Given the description of an element on the screen output the (x, y) to click on. 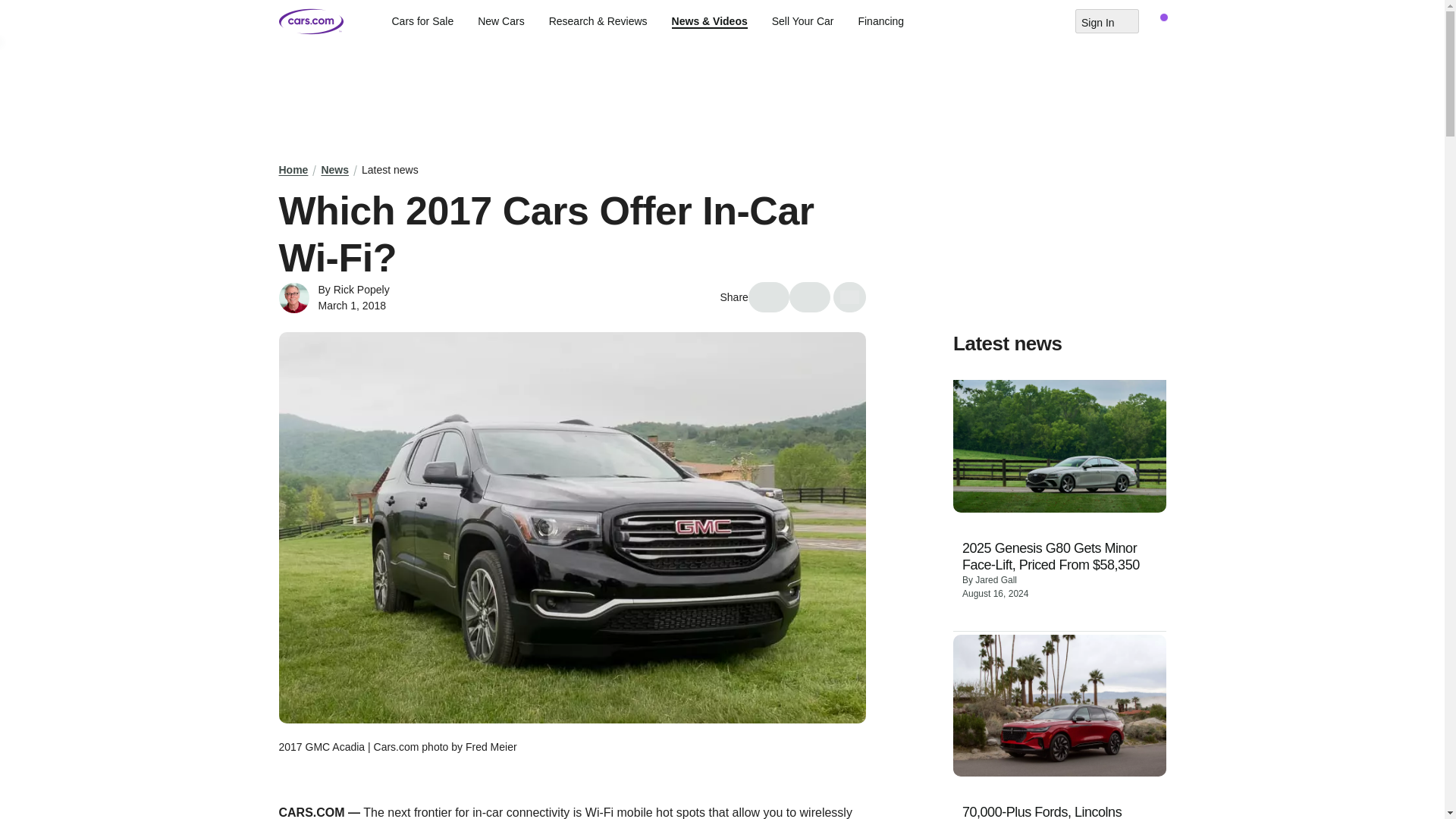
Cars for Sale (421, 21)
Skip to main content (12, 11)
Sell Your Car (802, 21)
Home (293, 170)
Financing (880, 21)
New Cars (500, 21)
News (334, 170)
